Given the description of an element on the screen output the (x, y) to click on. 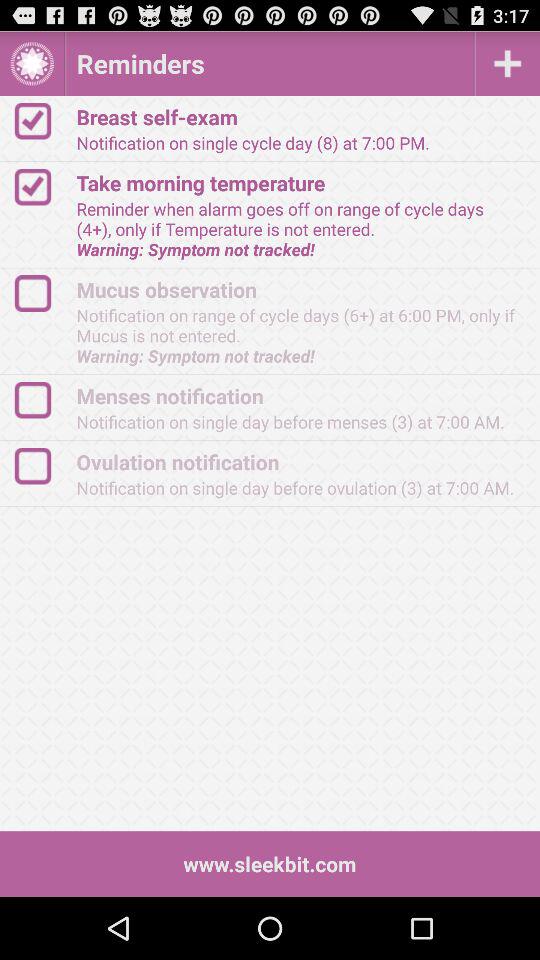
click on activity checklist box (41, 293)
